Given the description of an element on the screen output the (x, y) to click on. 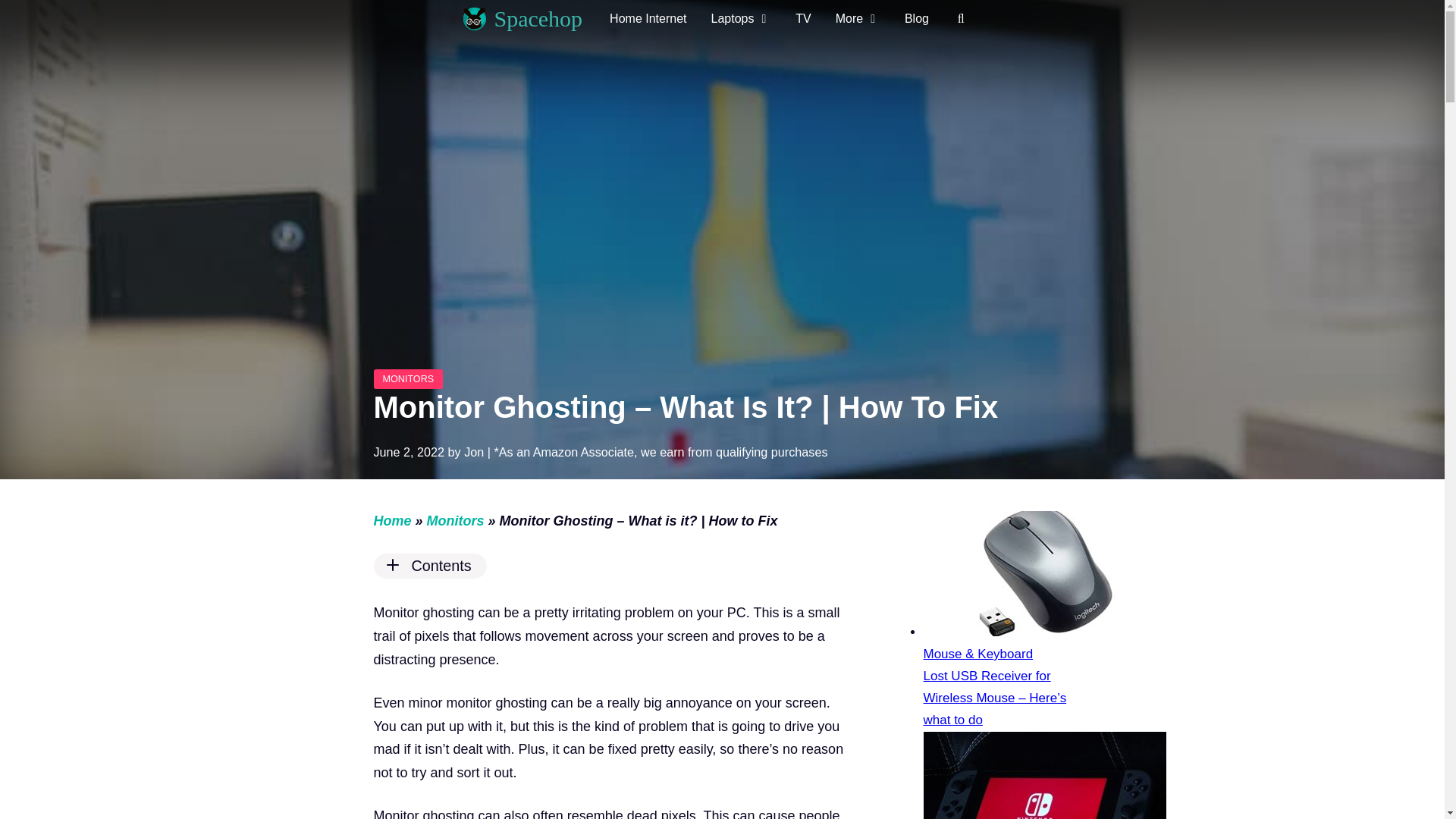
TV (802, 18)
Home Internet (647, 18)
Laptops (741, 18)
More (858, 18)
View all posts by Jon (473, 451)
Spacehop (537, 18)
Blog (916, 18)
Contents (607, 566)
